Given the description of an element on the screen output the (x, y) to click on. 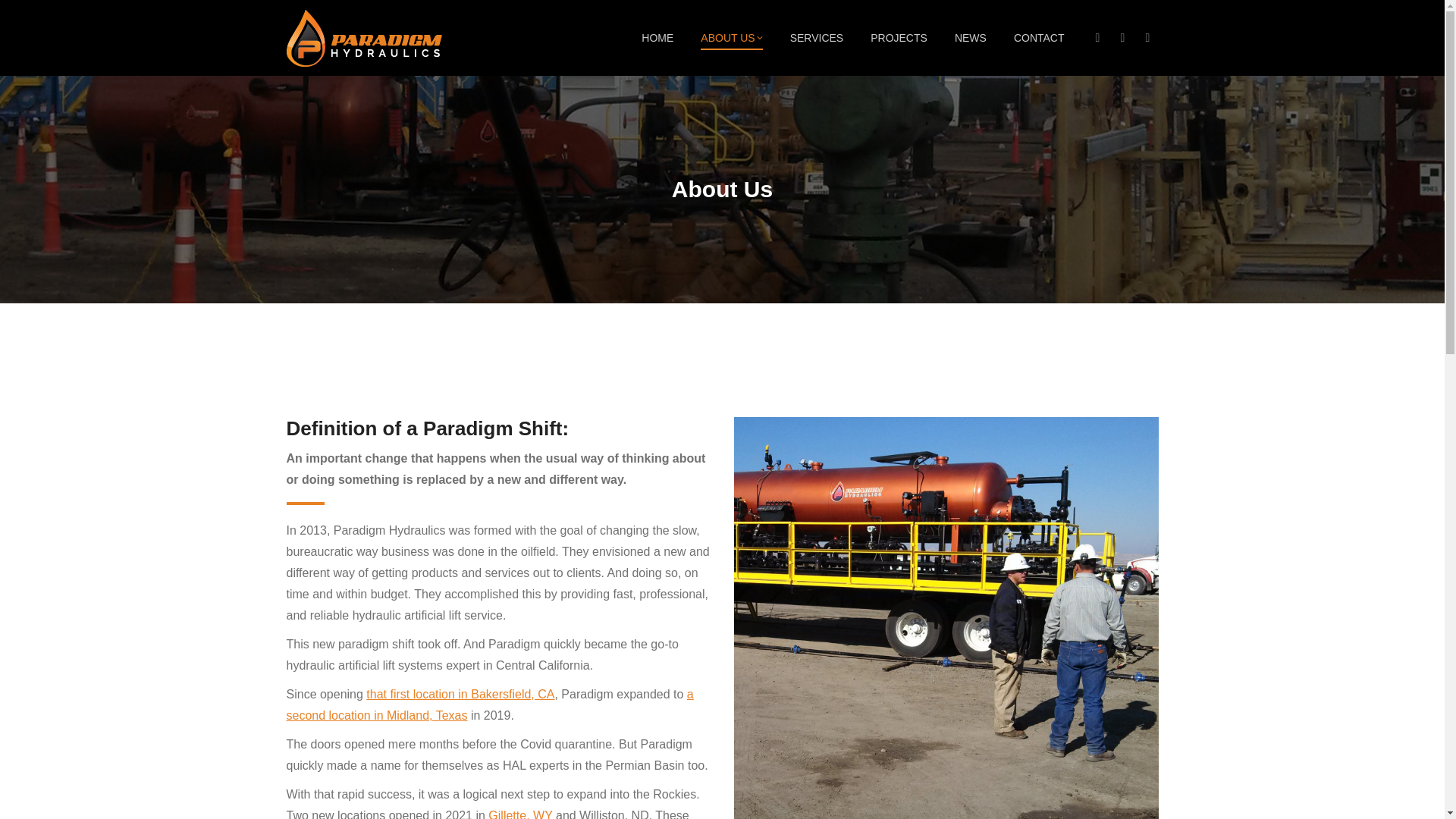
a second location in Midland, Texas (490, 704)
Linkedin page opens in new window (1147, 37)
Gillette, WY (519, 814)
Instagram page opens in new window (1122, 37)
Instagram page opens in new window (1122, 37)
Facebook page opens in new window (1097, 37)
that first location in Bakersfield, CA (460, 694)
ABOUT US (730, 37)
Facebook page opens in new window (1097, 37)
PROJECTS (898, 37)
Linkedin page opens in new window (1147, 37)
